Given the description of an element on the screen output the (x, y) to click on. 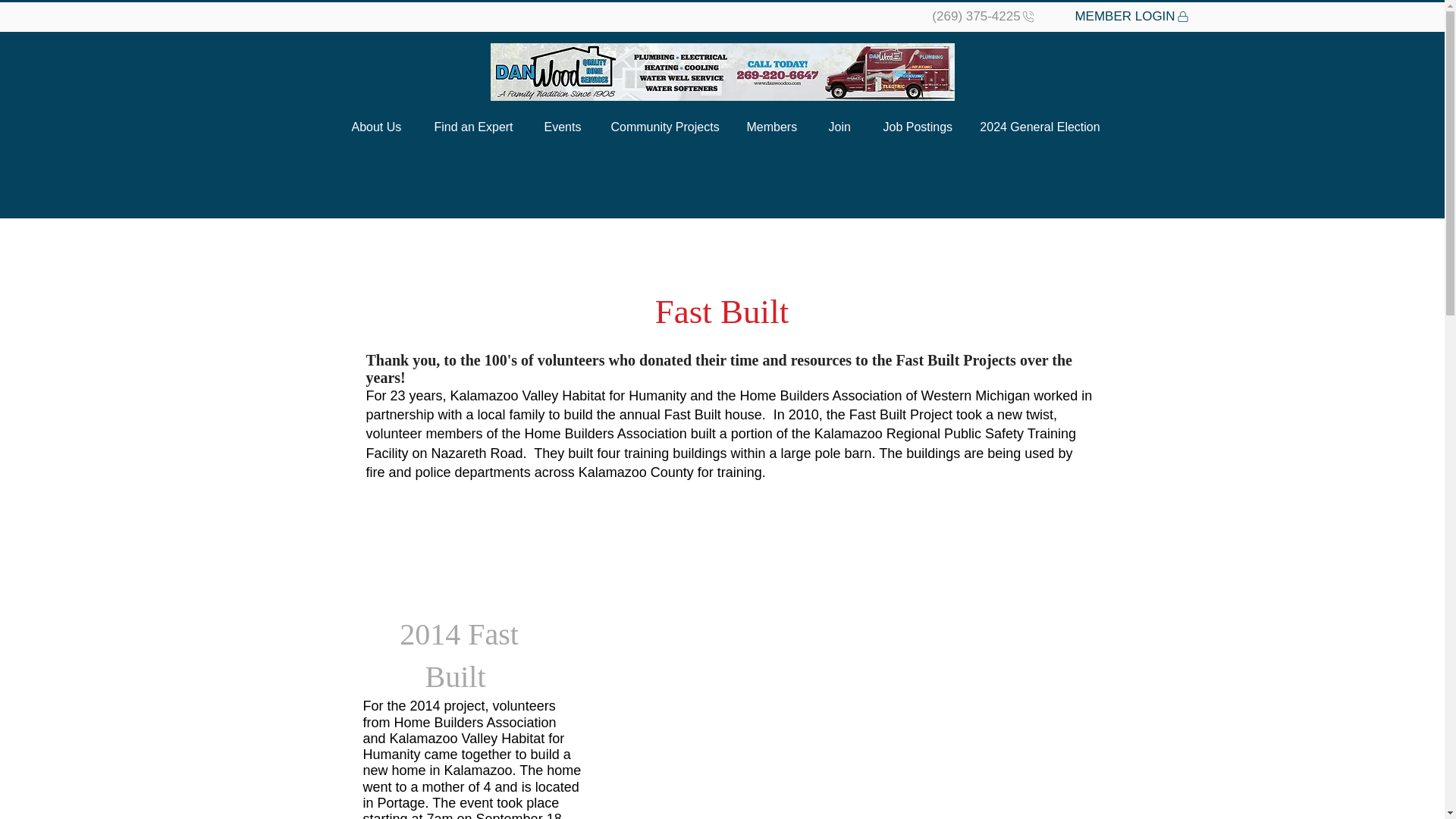
Community Projects (662, 127)
About Us (375, 127)
MEMBER LOGIN (1132, 15)
Find an Expert (471, 127)
